Given the description of an element on the screen output the (x, y) to click on. 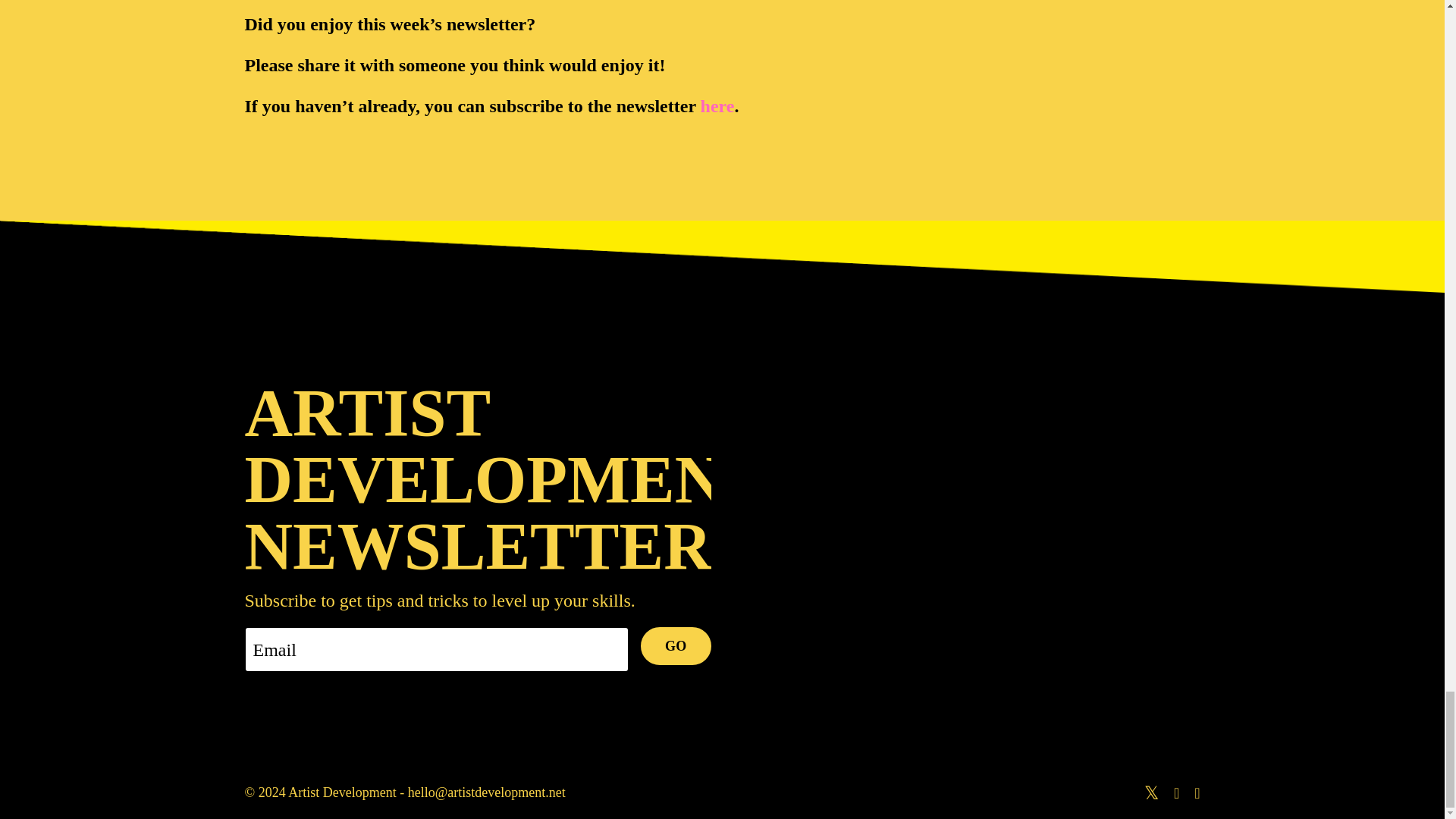
here (717, 106)
GO (675, 646)
